Given the description of an element on the screen output the (x, y) to click on. 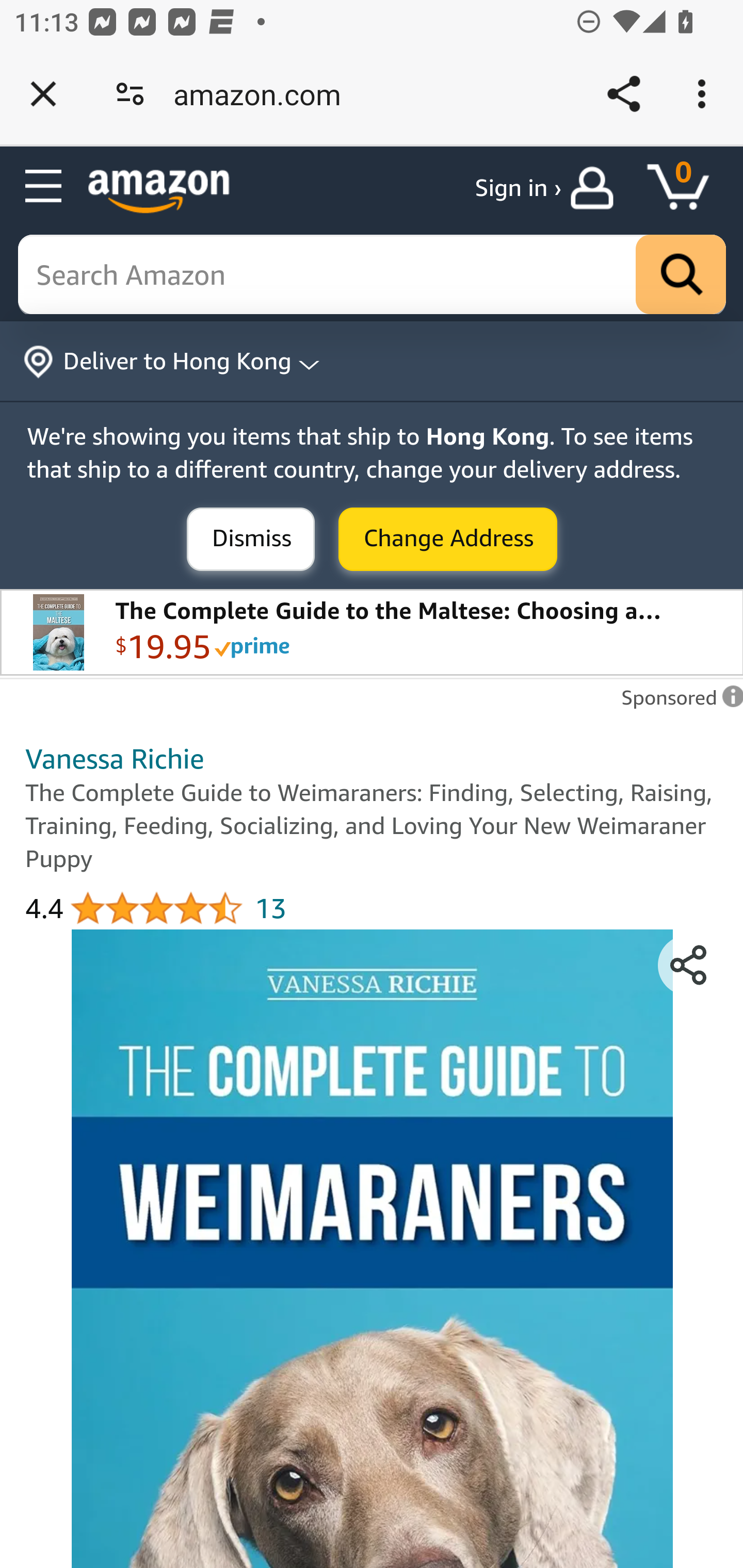
Close tab (43, 93)
Share (623, 93)
Customize and control Google Chrome (705, 93)
Connection is secure (129, 93)
amazon.com (264, 93)
Open Menu (44, 187)
Sign in › (518, 188)
your account (596, 188)
Cart 0 (687, 188)
Amazon (158, 191)
Clear search keywords (372, 275)
Go (681, 275)
Submit (250, 539)
Submit (447, 539)
Vanessa Richie (115, 758)
